Given the description of an element on the screen output the (x, y) to click on. 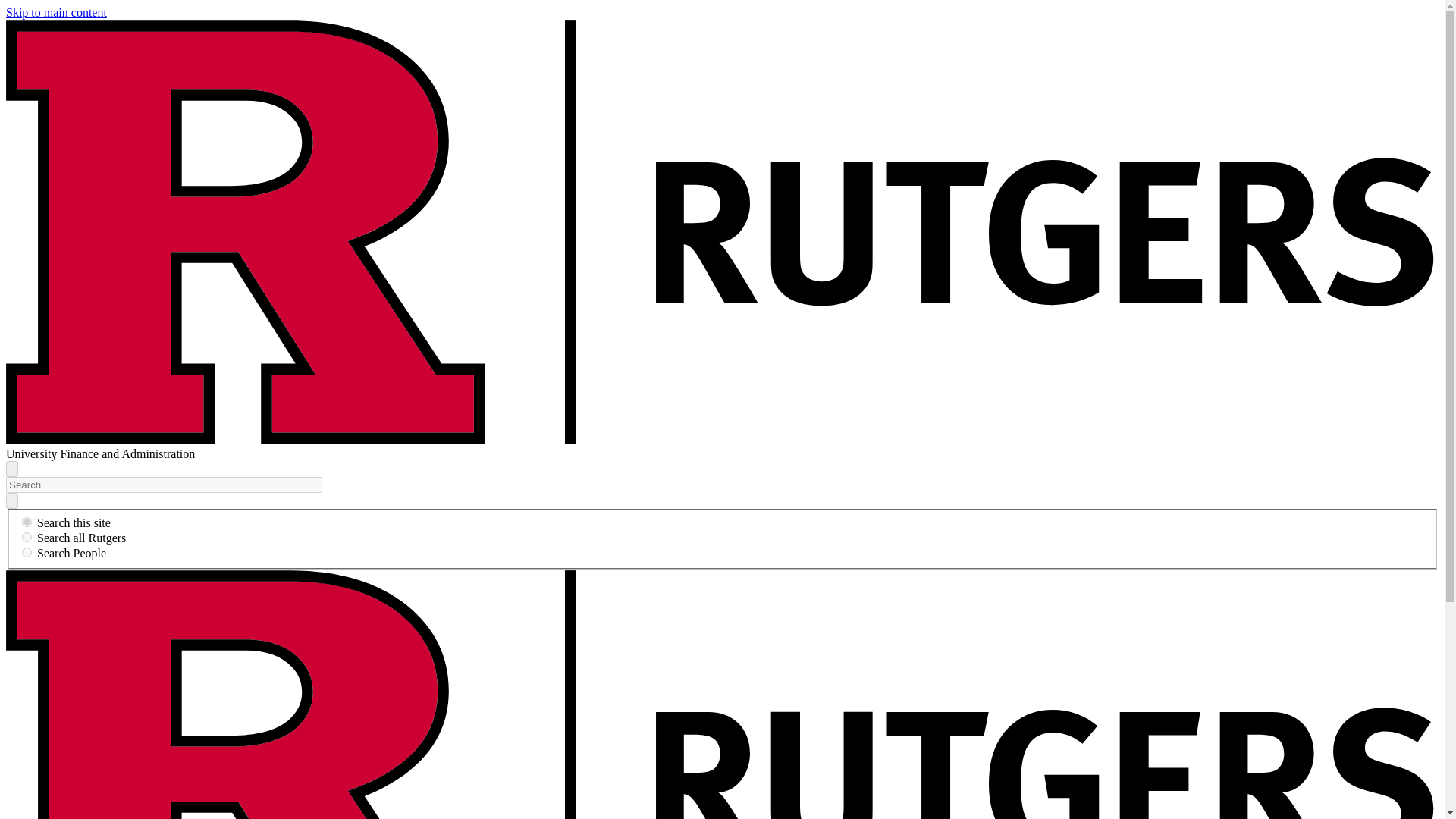
search-all-rutgers (26, 537)
search-people (26, 552)
Skip to main content (55, 11)
search-this-site (26, 521)
